Given the description of an element on the screen output the (x, y) to click on. 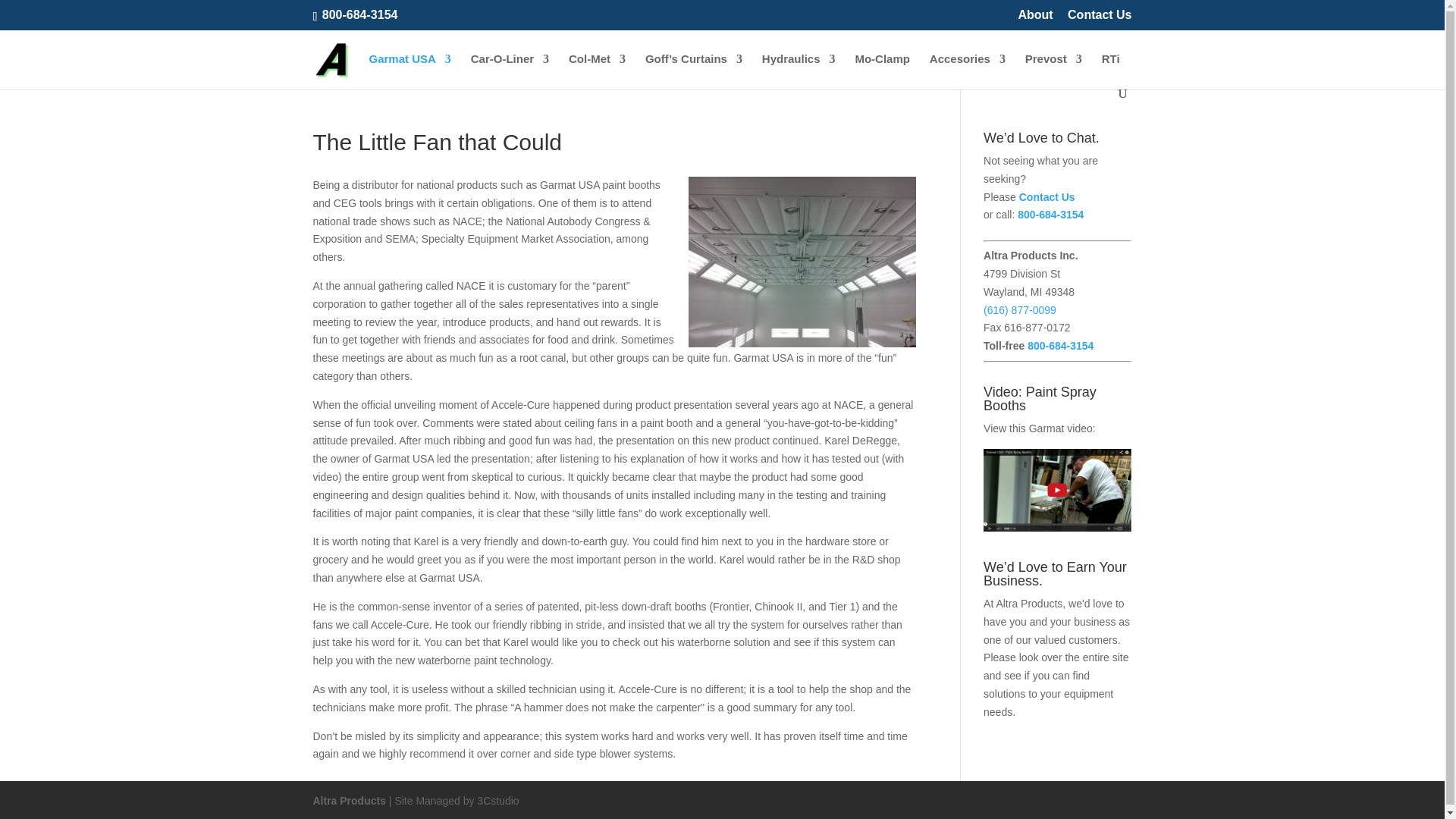
About (1034, 19)
Contact Us (1099, 19)
Car-O-Liner (509, 70)
800-684-3154 (359, 14)
Altra email form page (1047, 196)
Garmat USA (408, 70)
